Given the description of an element on the screen output the (x, y) to click on. 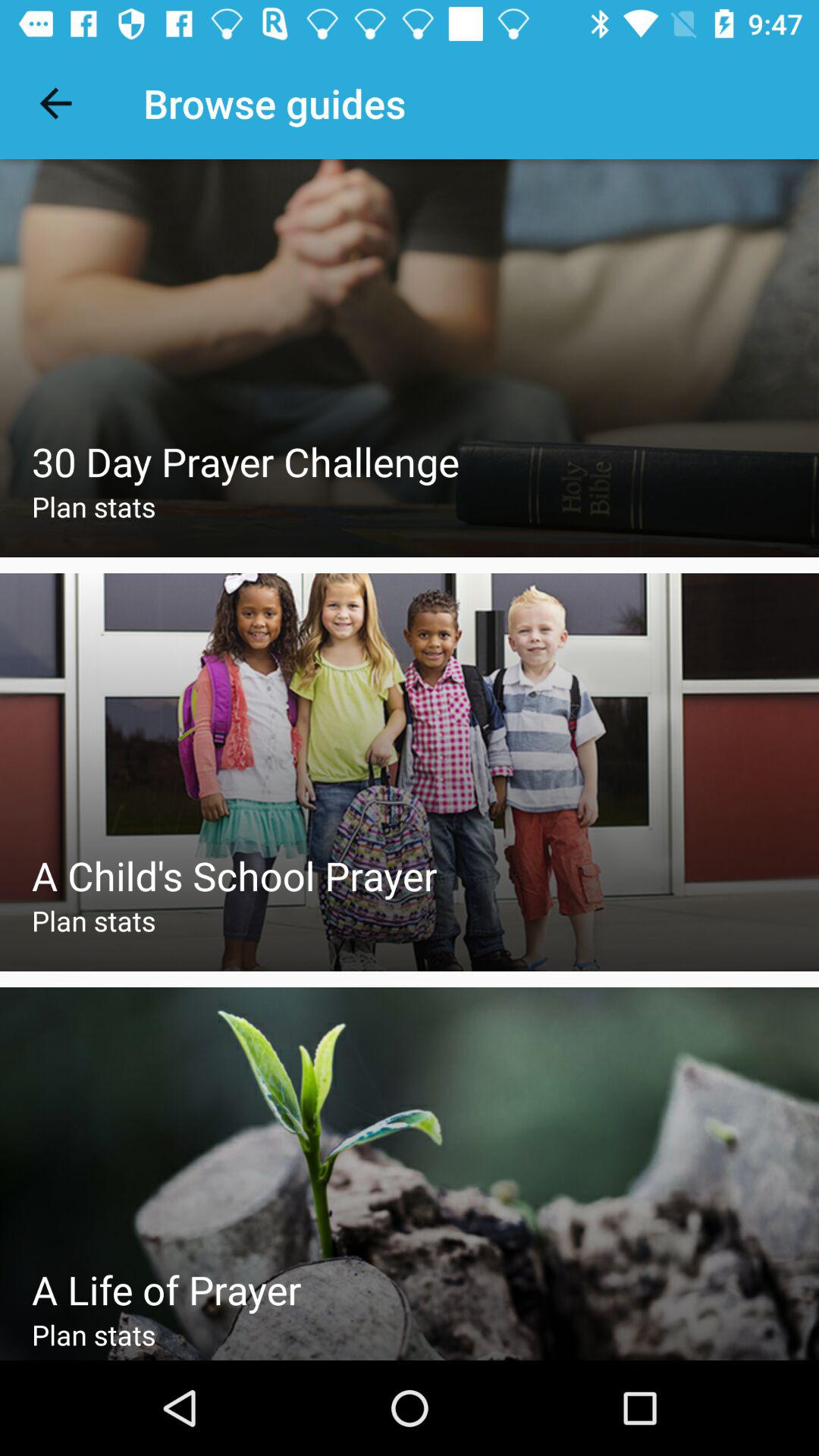
tap icon to the left of the browse guides (55, 103)
